Given the description of an element on the screen output the (x, y) to click on. 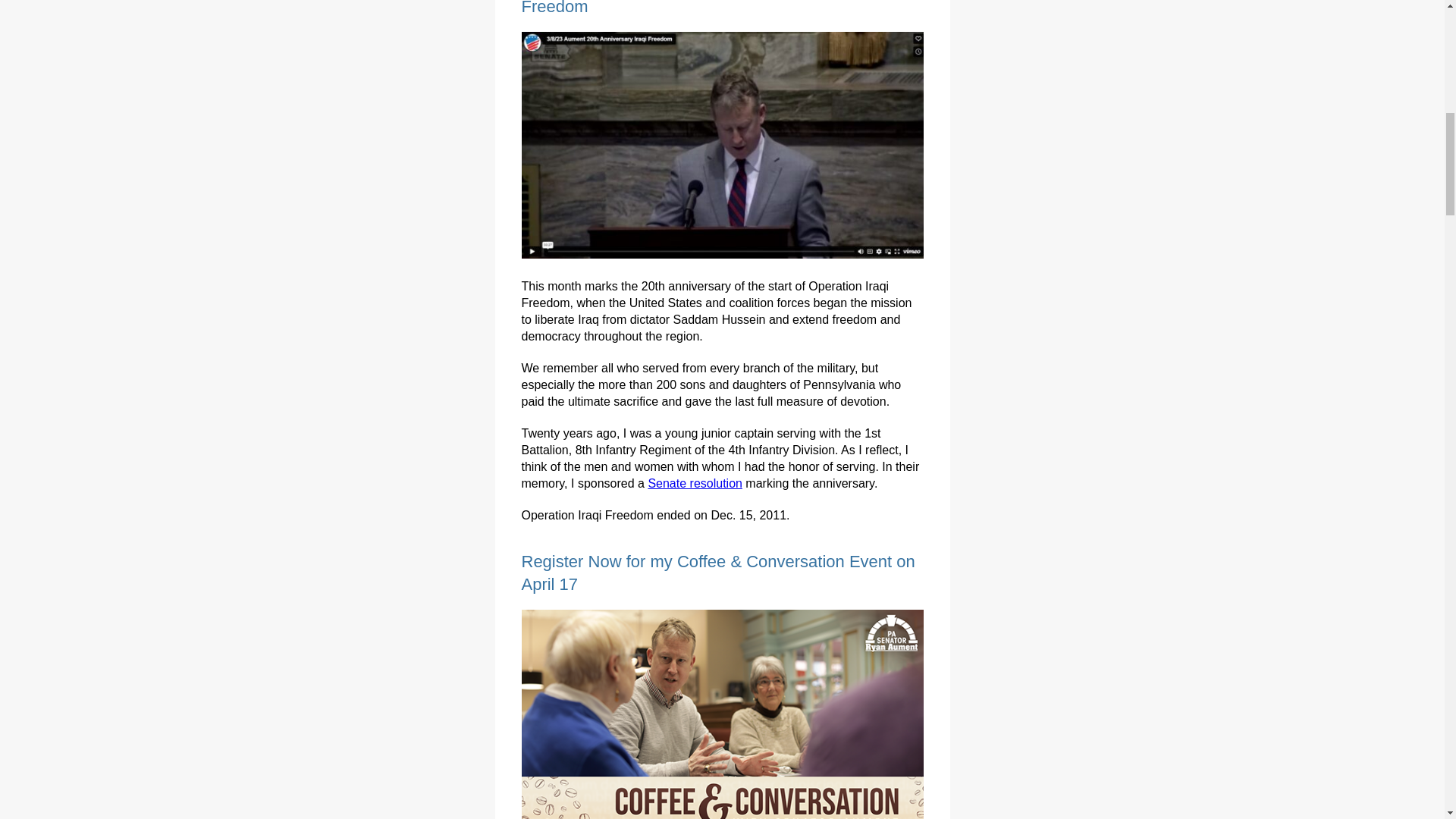
Senate resolution (694, 482)
